Given the description of an element on the screen output the (x, y) to click on. 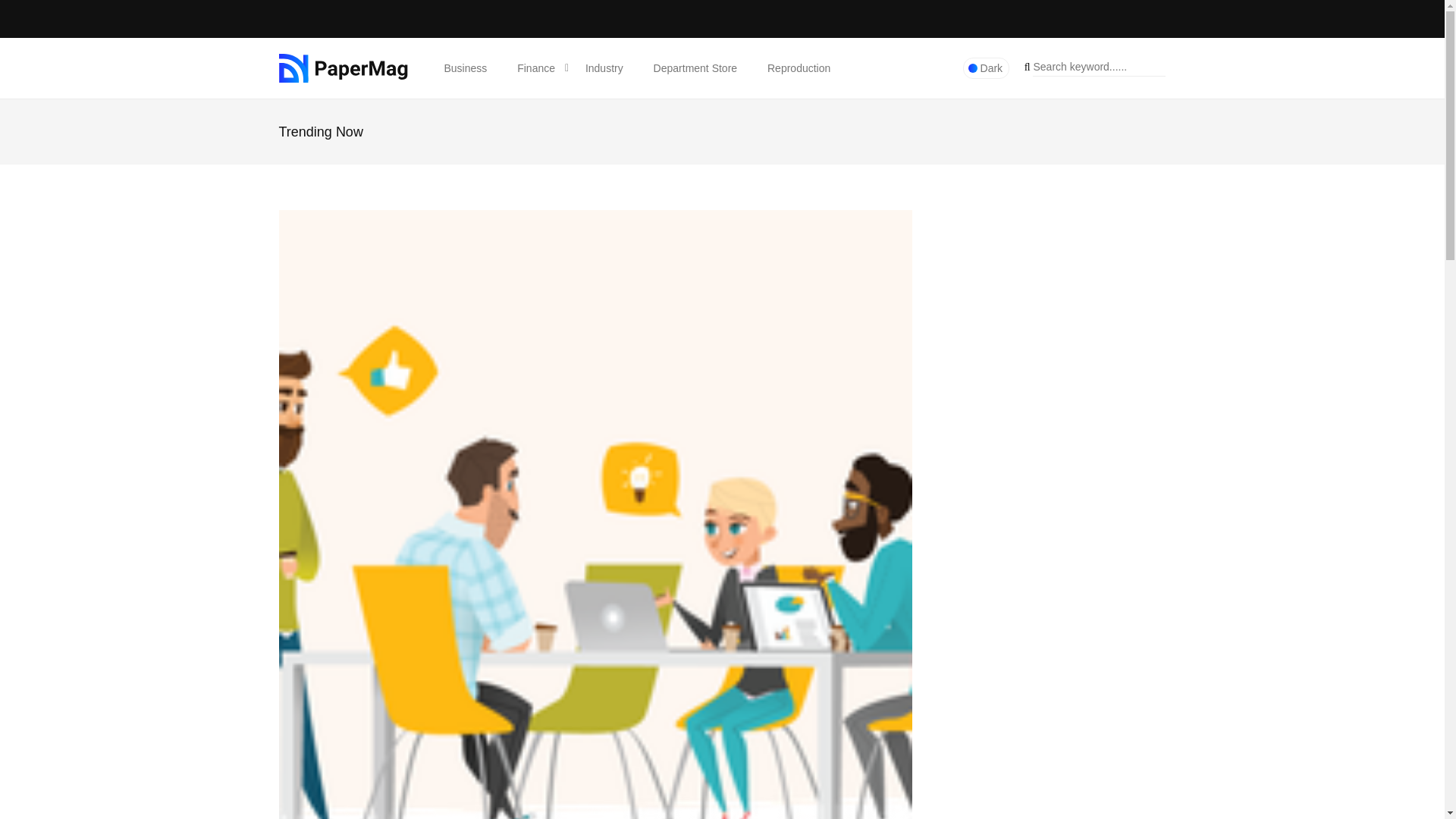
Department Store (695, 67)
Industry (604, 67)
Finance (536, 67)
Reproduction (799, 67)
Business (465, 67)
